Given the description of an element on the screen output the (x, y) to click on. 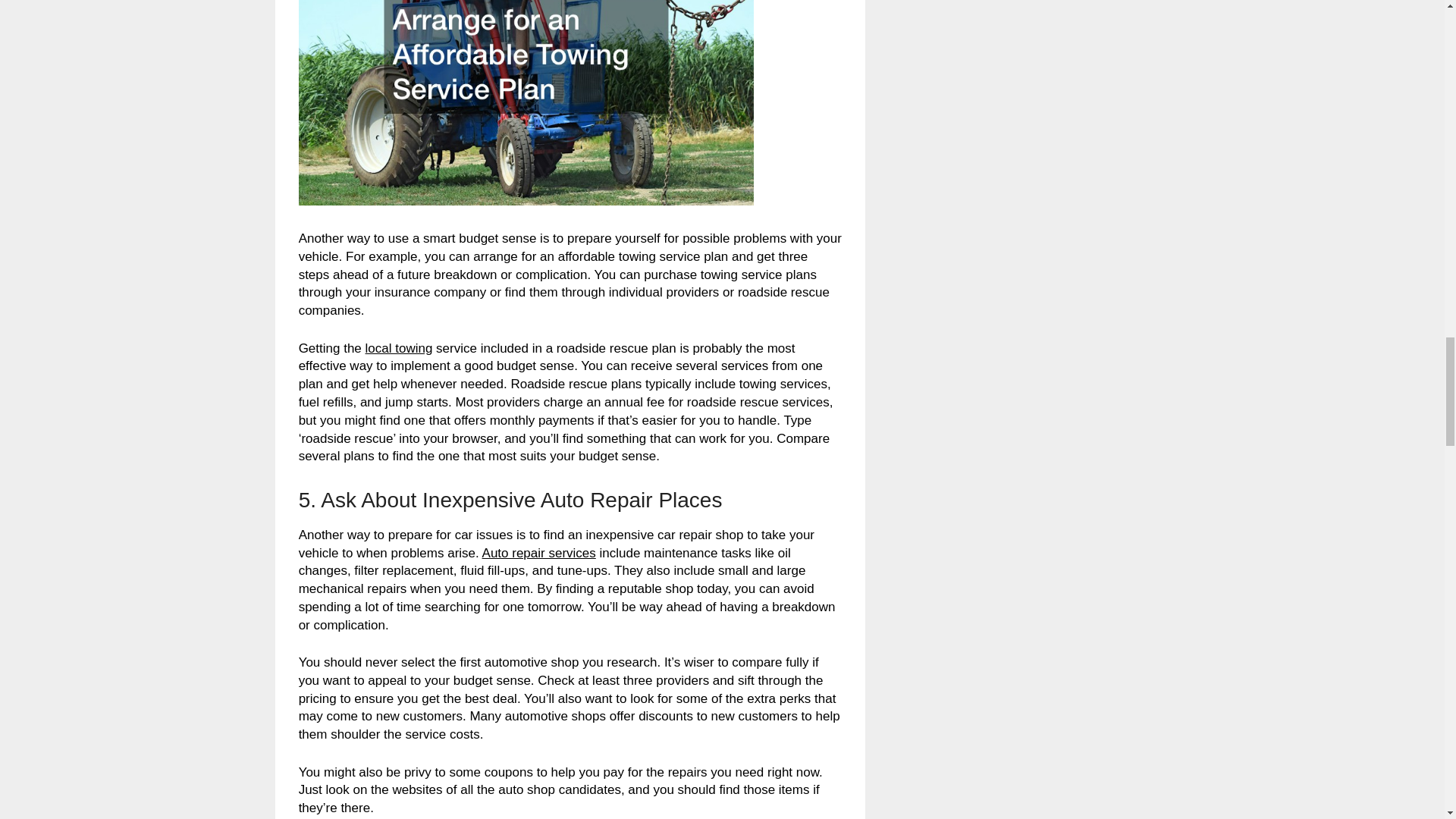
Auto repair services (538, 553)
local towing (398, 348)
